Given the description of an element on the screen output the (x, y) to click on. 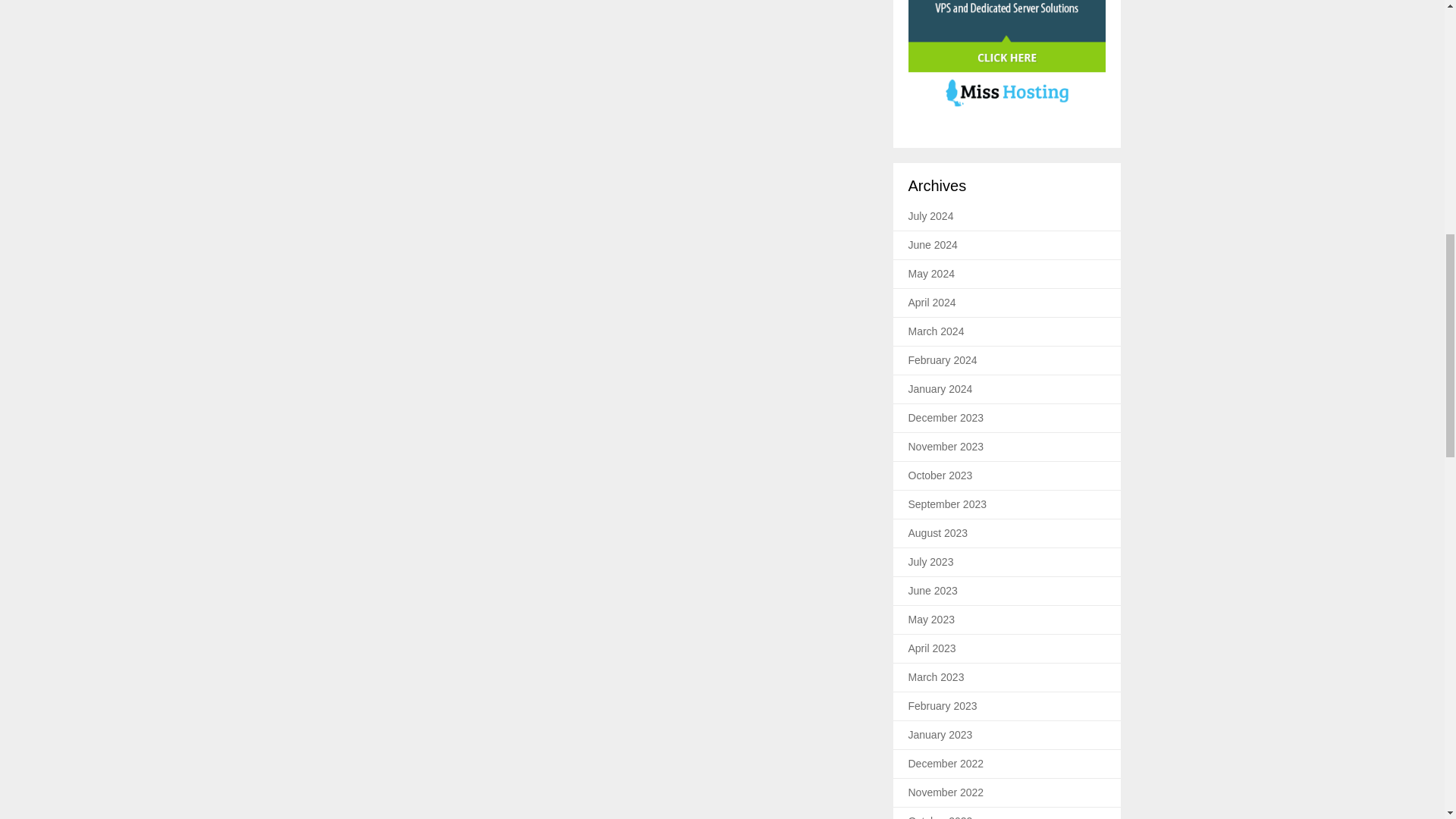
September 2023 (947, 503)
April 2023 (932, 648)
February 2023 (942, 705)
May 2024 (931, 273)
November 2022 (946, 792)
March 2023 (935, 676)
July 2024 (930, 215)
November 2023 (946, 446)
December 2023 (946, 417)
May 2023 (931, 619)
April 2024 (932, 302)
October 2023 (940, 475)
December 2022 (946, 763)
January 2023 (940, 734)
August 2023 (938, 532)
